Given the description of an element on the screen output the (x, y) to click on. 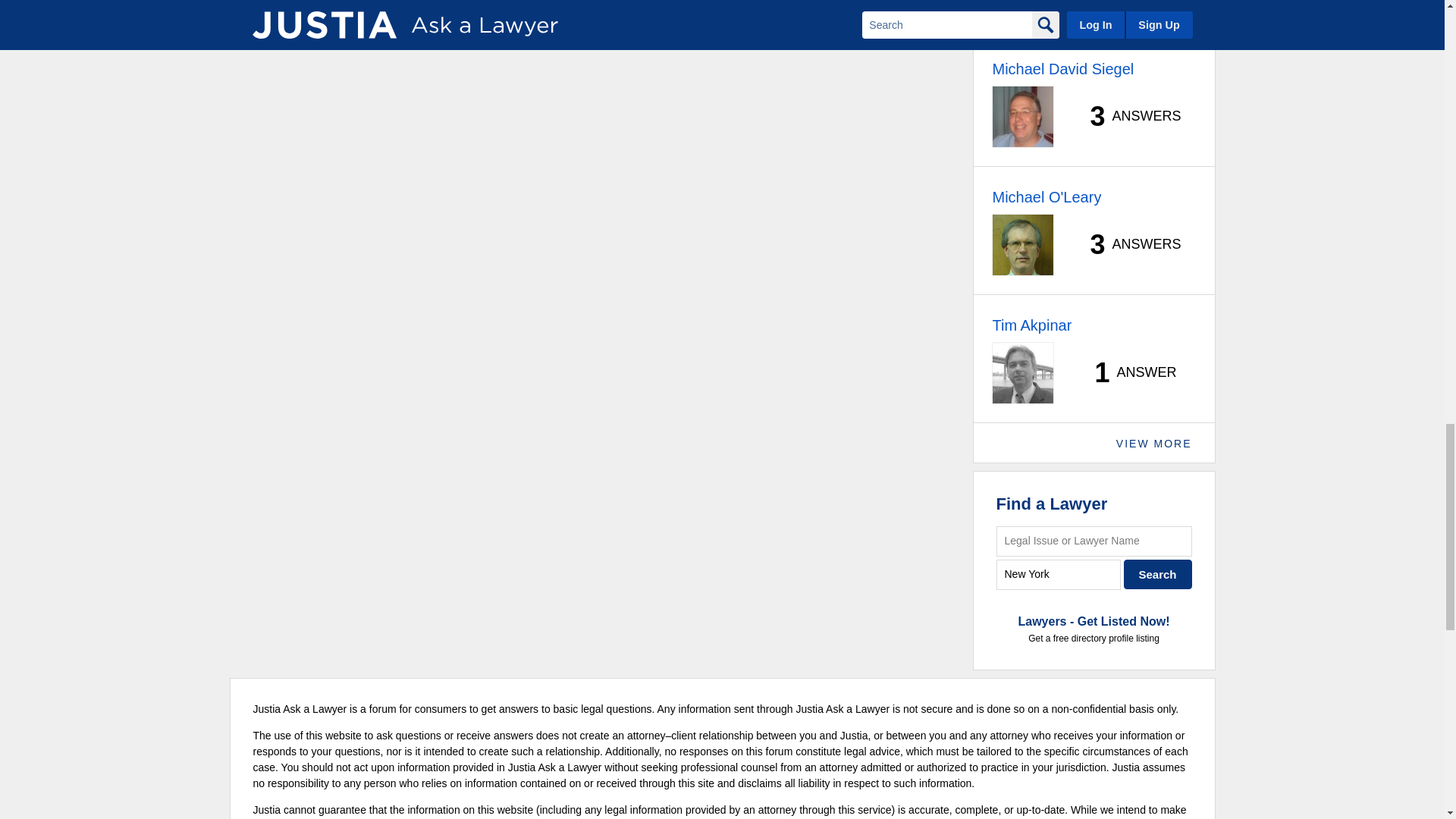
Ask a Lawyer - Leaderboard - Lawyer Stats (1127, 1)
Ask a Lawyer - Leaderboard - Lawyer Photo (1021, 9)
Search (1158, 573)
Search (1158, 573)
Ask a Lawyer - Leaderboard - Lawyer Photo (1021, 116)
New York (1058, 573)
Ask a Lawyer - Leaderboard - Lawyer Name (1062, 68)
